Given the description of an element on the screen output the (x, y) to click on. 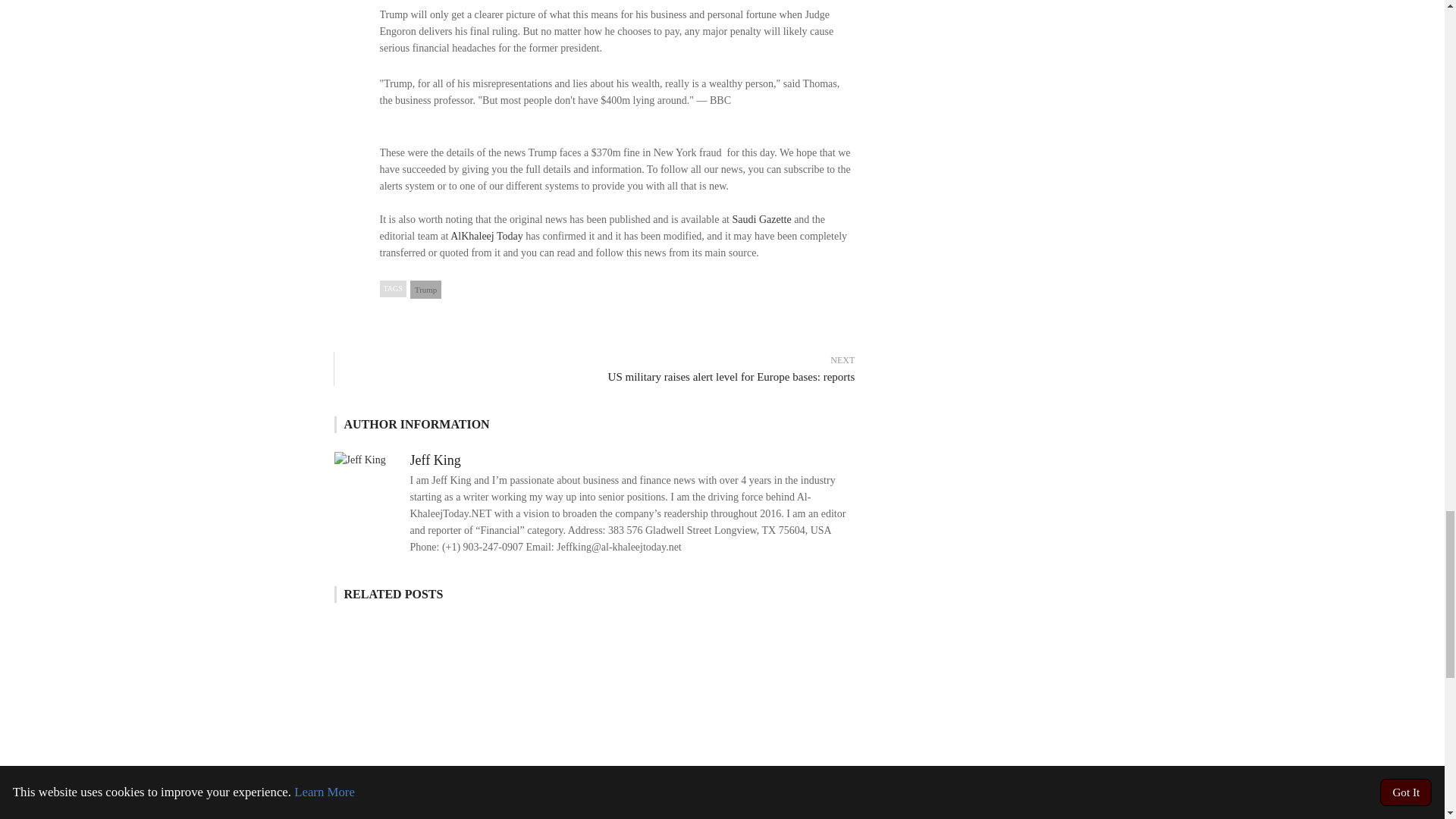
Jeff King (434, 460)
US military raises alert level for Europe bases: reports (601, 376)
Saudi Gazette (762, 219)
AlKhaleej Today (485, 235)
Trump (426, 289)
